Given the description of an element on the screen output the (x, y) to click on. 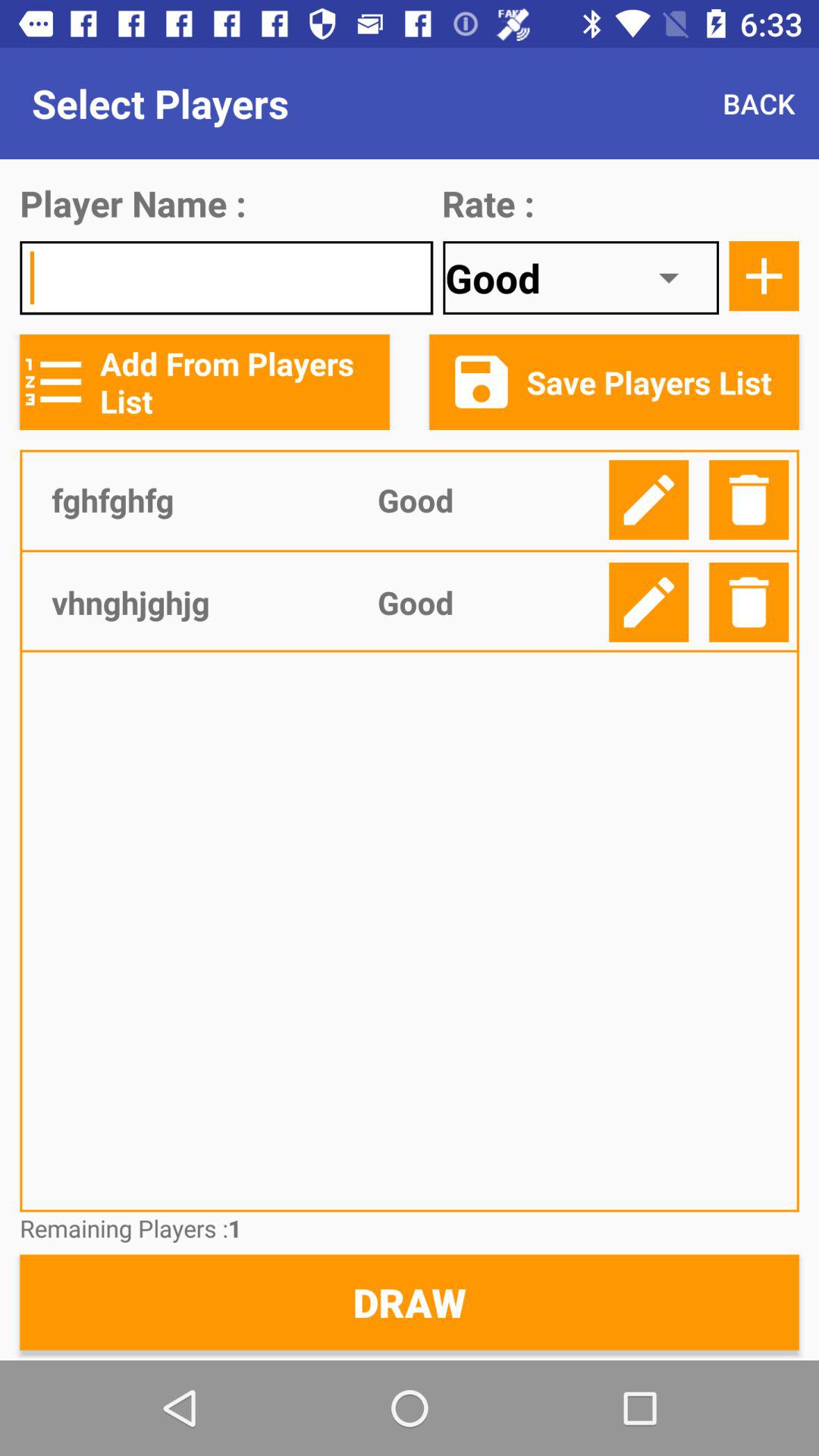
more details (764, 276)
